Given the description of an element on the screen output the (x, y) to click on. 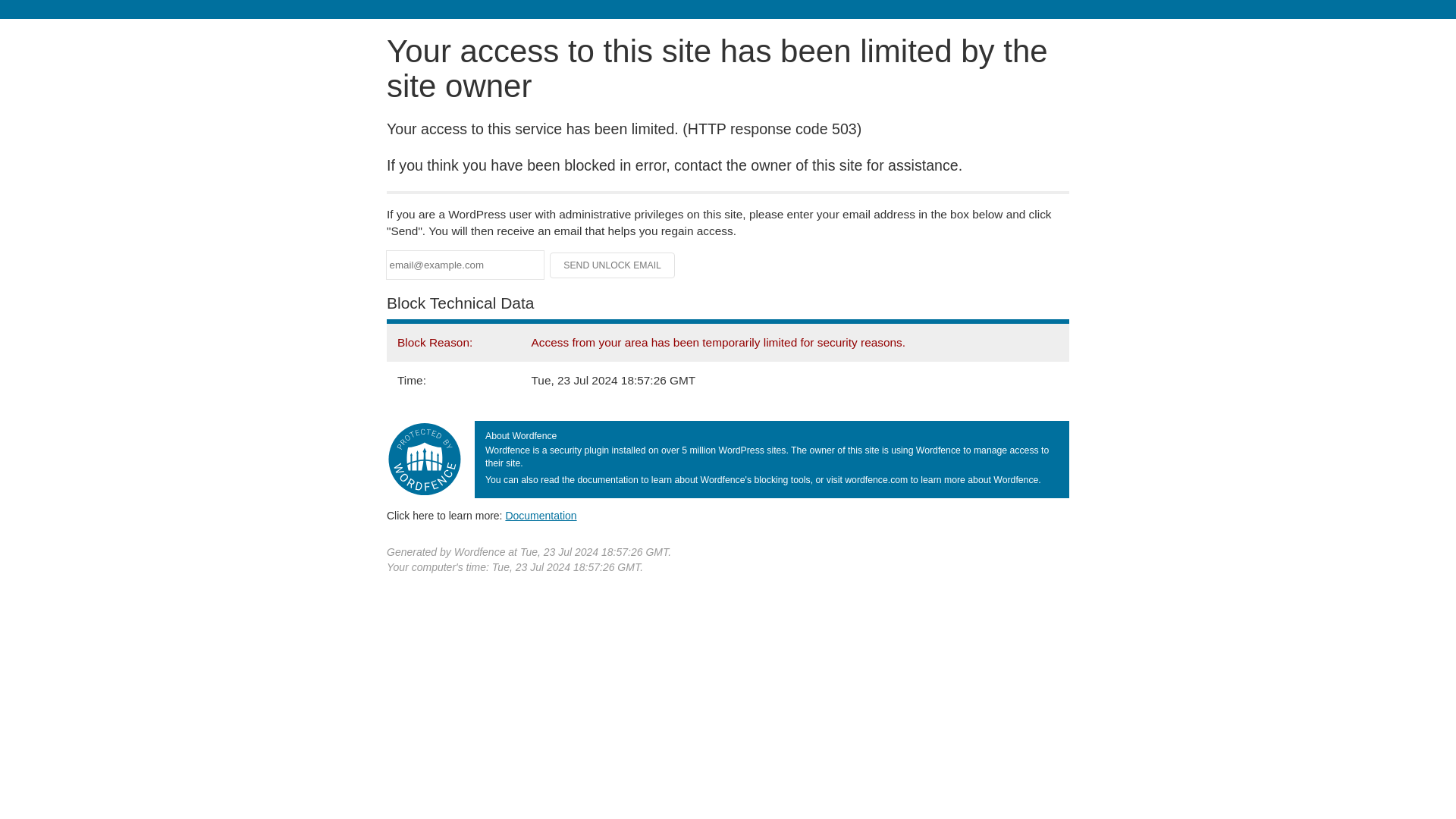
Send Unlock Email (612, 265)
Send Unlock Email (612, 265)
Documentation (540, 515)
